Given the description of an element on the screen output the (x, y) to click on. 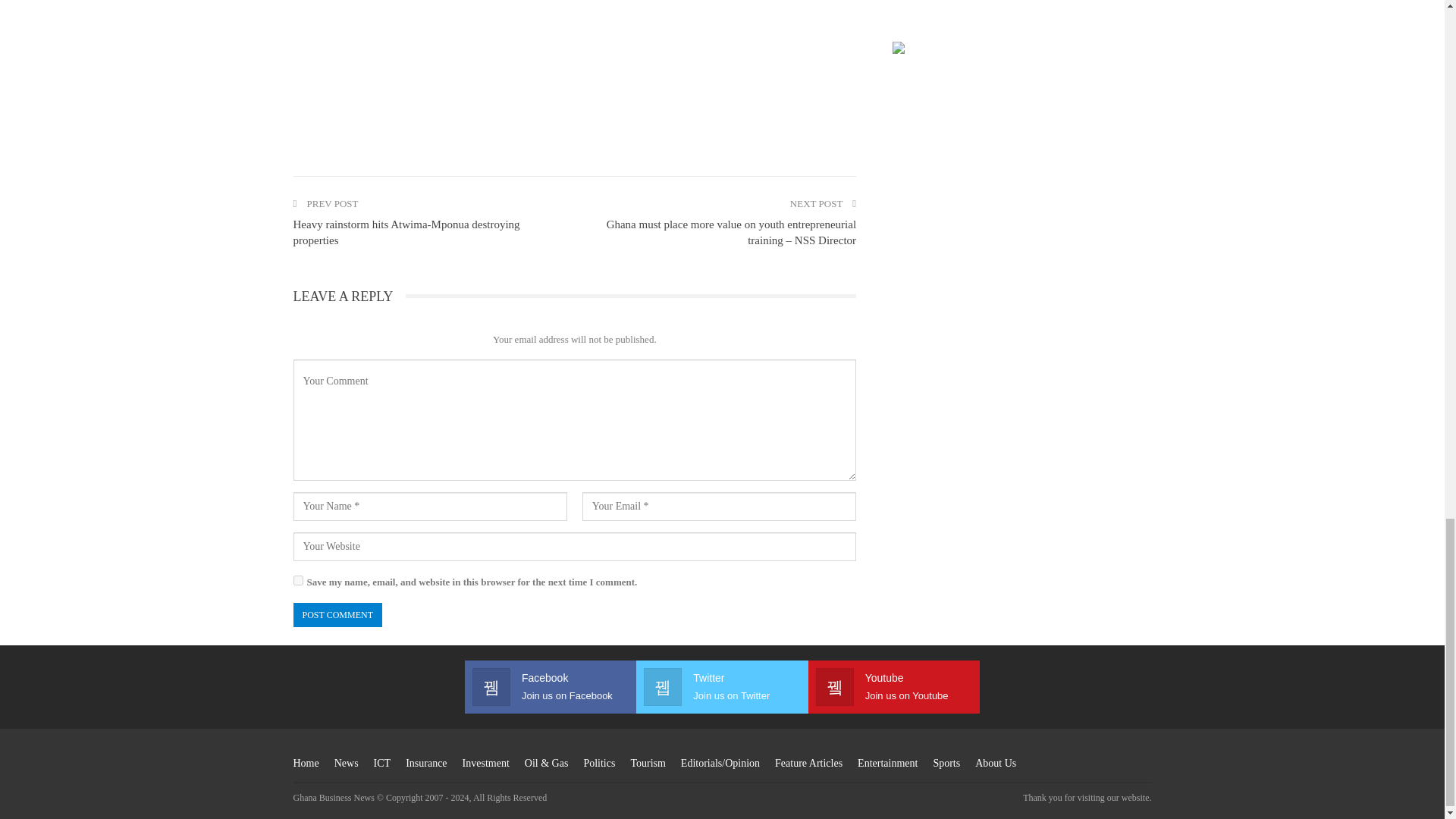
Heavy rainstorm hits Atwima-Mponua destroying properties (405, 232)
yes (297, 580)
Post Comment (336, 615)
Post Comment (336, 615)
